Given the description of an element on the screen output the (x, y) to click on. 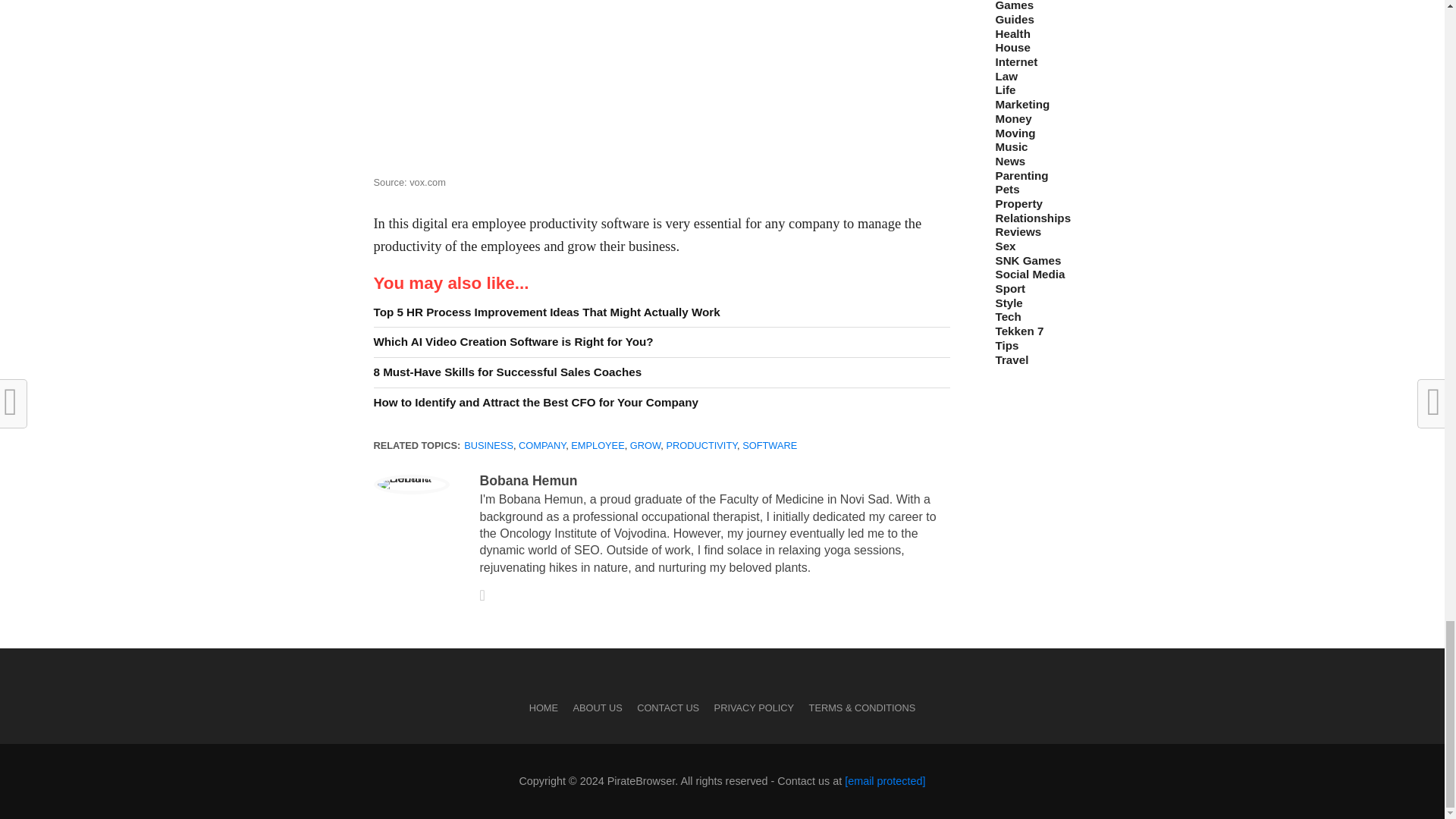
Posts by Bobana Hemun (527, 480)
